Given the description of an element on the screen output the (x, y) to click on. 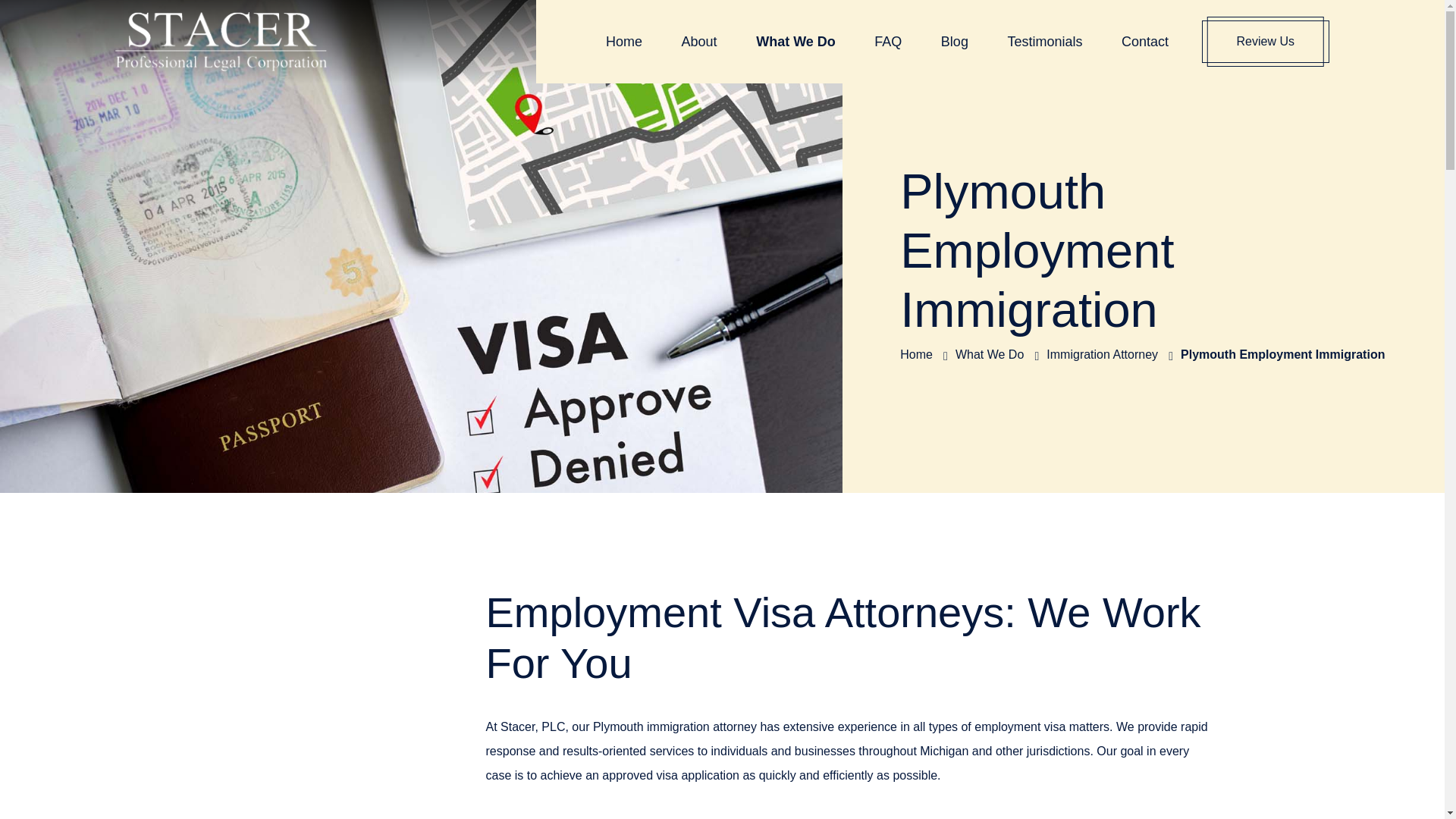
About (699, 41)
What We Do (989, 354)
Home (916, 354)
Review Us (1265, 41)
Blog (954, 41)
Go to What We Do. (989, 354)
Go to Immigration Attorney. (1101, 354)
Testimonials (1044, 41)
Home (623, 41)
What We Do (795, 41)
Immigration Attorney (1101, 354)
FAQ (887, 41)
Contact (1144, 41)
